Given the description of an element on the screen output the (x, y) to click on. 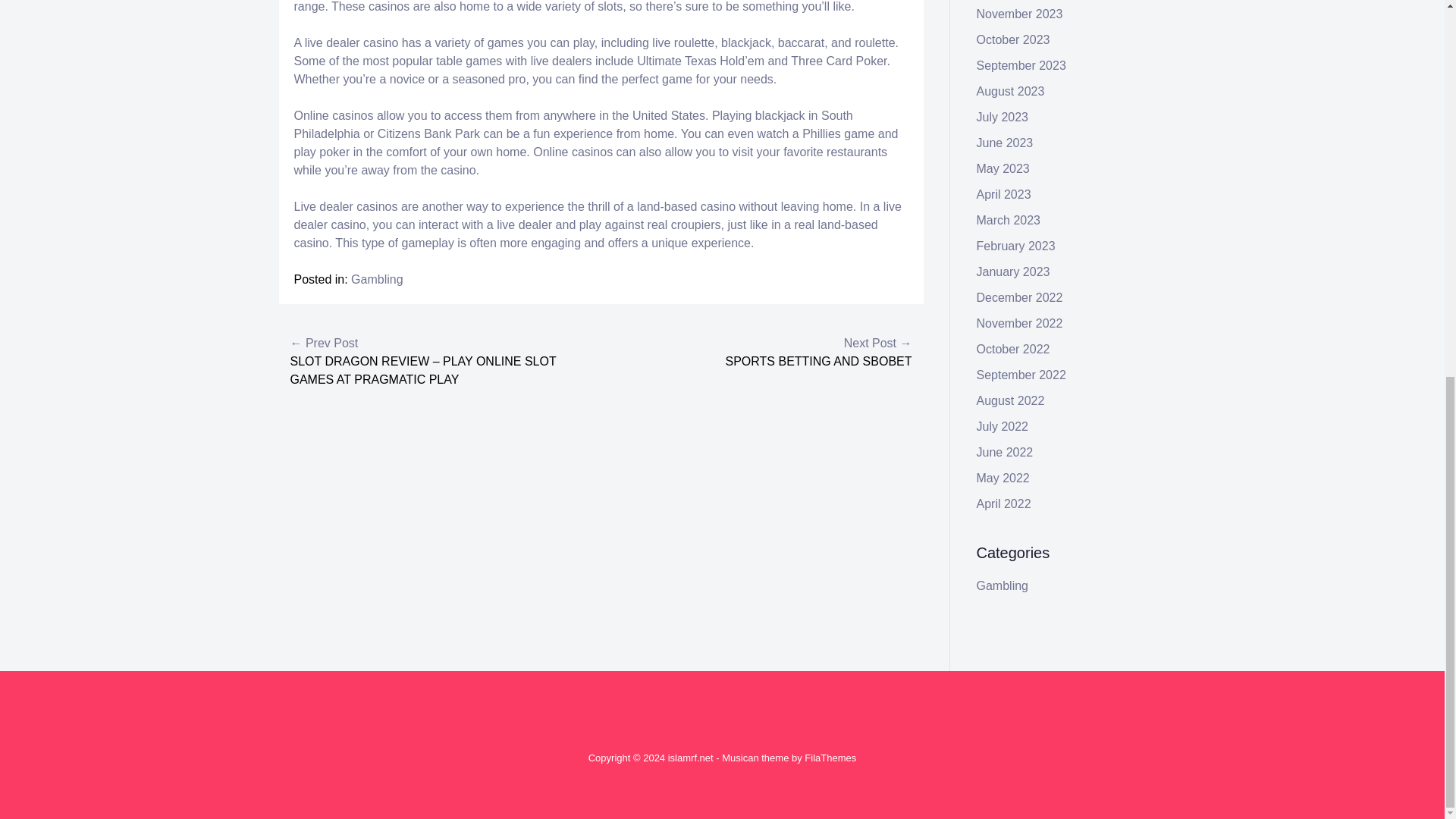
August 2022 (1010, 400)
October 2022 (1012, 349)
December 2022 (1019, 297)
April 2023 (1003, 194)
July 2022 (1002, 426)
June 2022 (1004, 451)
November 2022 (1019, 323)
February 2023 (1015, 245)
Gambling (376, 278)
June 2023 (1004, 142)
September 2023 (1020, 65)
March 2023 (1008, 219)
October 2023 (1012, 39)
January 2023 (1012, 271)
September 2022 (1020, 374)
